Given the description of an element on the screen output the (x, y) to click on. 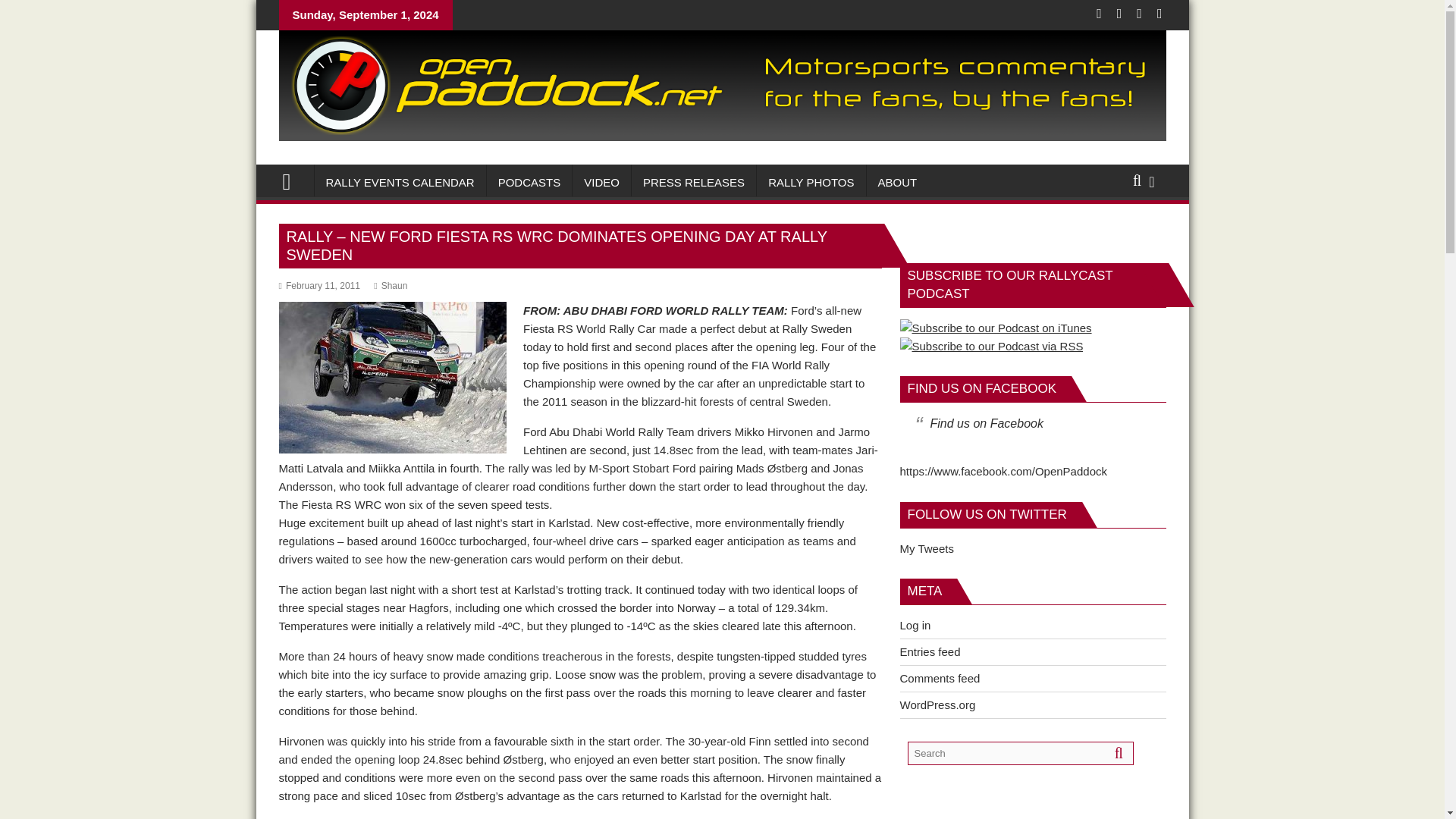
PRESS RELEASES (693, 182)
Fiesta Flying (392, 377)
February 11, 2011 (319, 285)
OpenPaddock.net (293, 179)
VIDEO (601, 182)
OpenPaddock.net (722, 136)
RALLY EVENTS CALENDAR (399, 182)
ABOUT (897, 182)
PODCASTS (529, 182)
Shaun (390, 285)
